Given the description of an element on the screen output the (x, y) to click on. 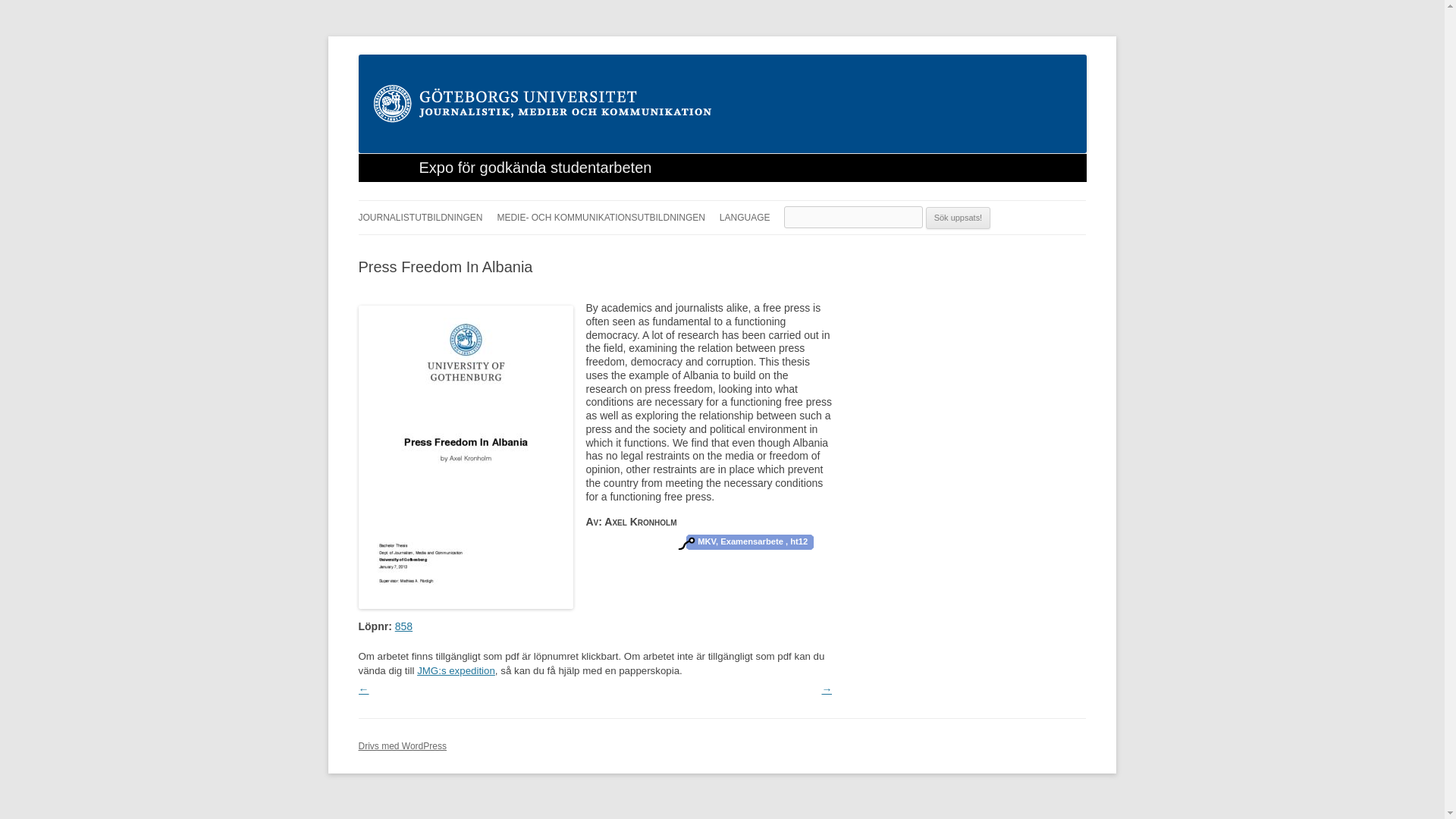
LANGUAGE (744, 217)
858-1 (403, 625)
JOURNALISTUTBILDNINGEN (419, 217)
JMG:s expedition (455, 670)
JU KANDIDAT (433, 249)
858-1 (465, 604)
SVENSKA (794, 249)
MEDIE- OCH KOMMUNIKATIONSUTBILDNINGEN (600, 217)
Swedish (794, 249)
MKV KANDIDAT (571, 249)
